Given the description of an element on the screen output the (x, y) to click on. 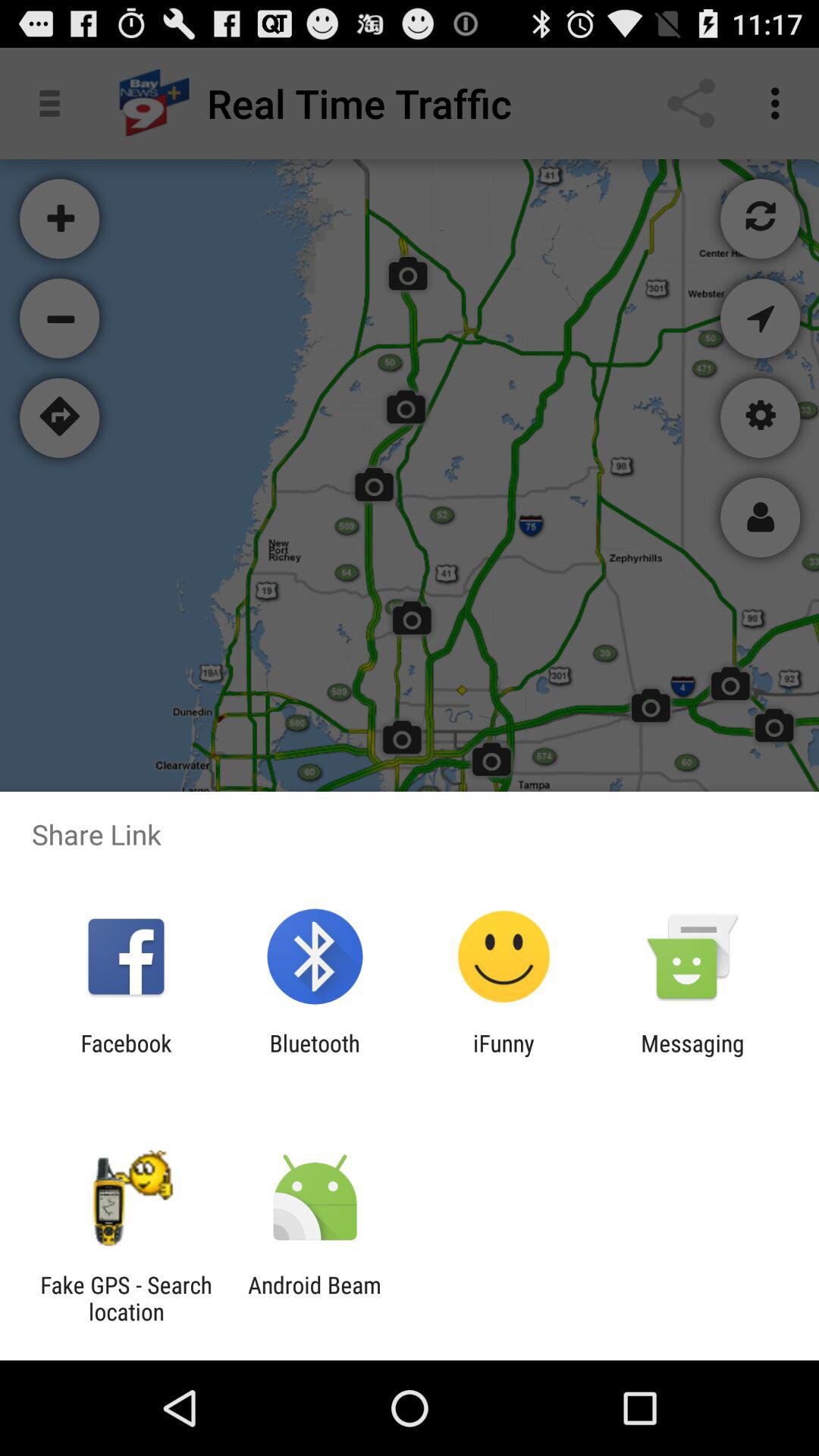
turn on the icon to the right of the ifunny (692, 1056)
